Given the description of an element on the screen output the (x, y) to click on. 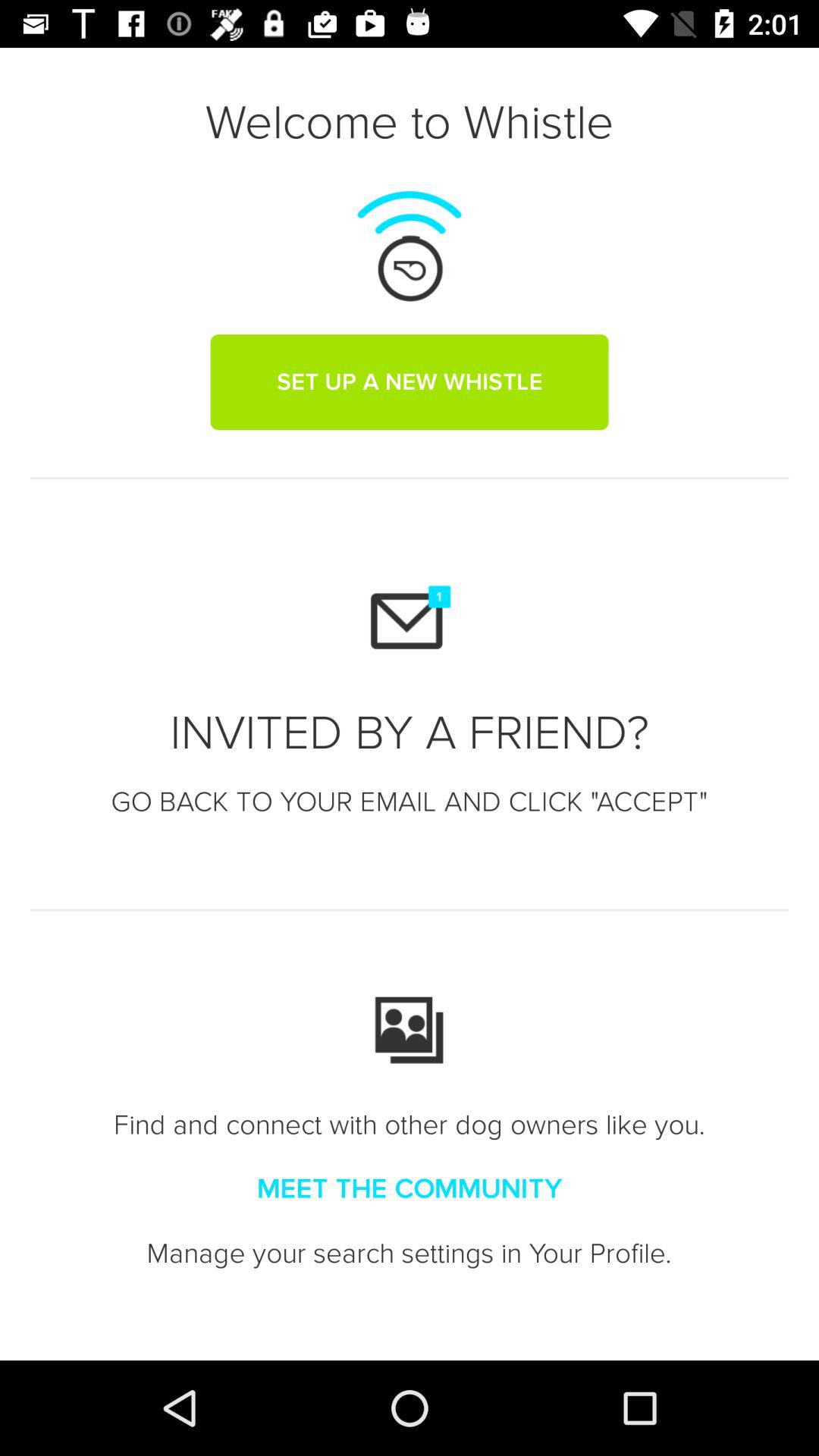
choose meet the community (409, 1189)
